Given the description of an element on the screen output the (x, y) to click on. 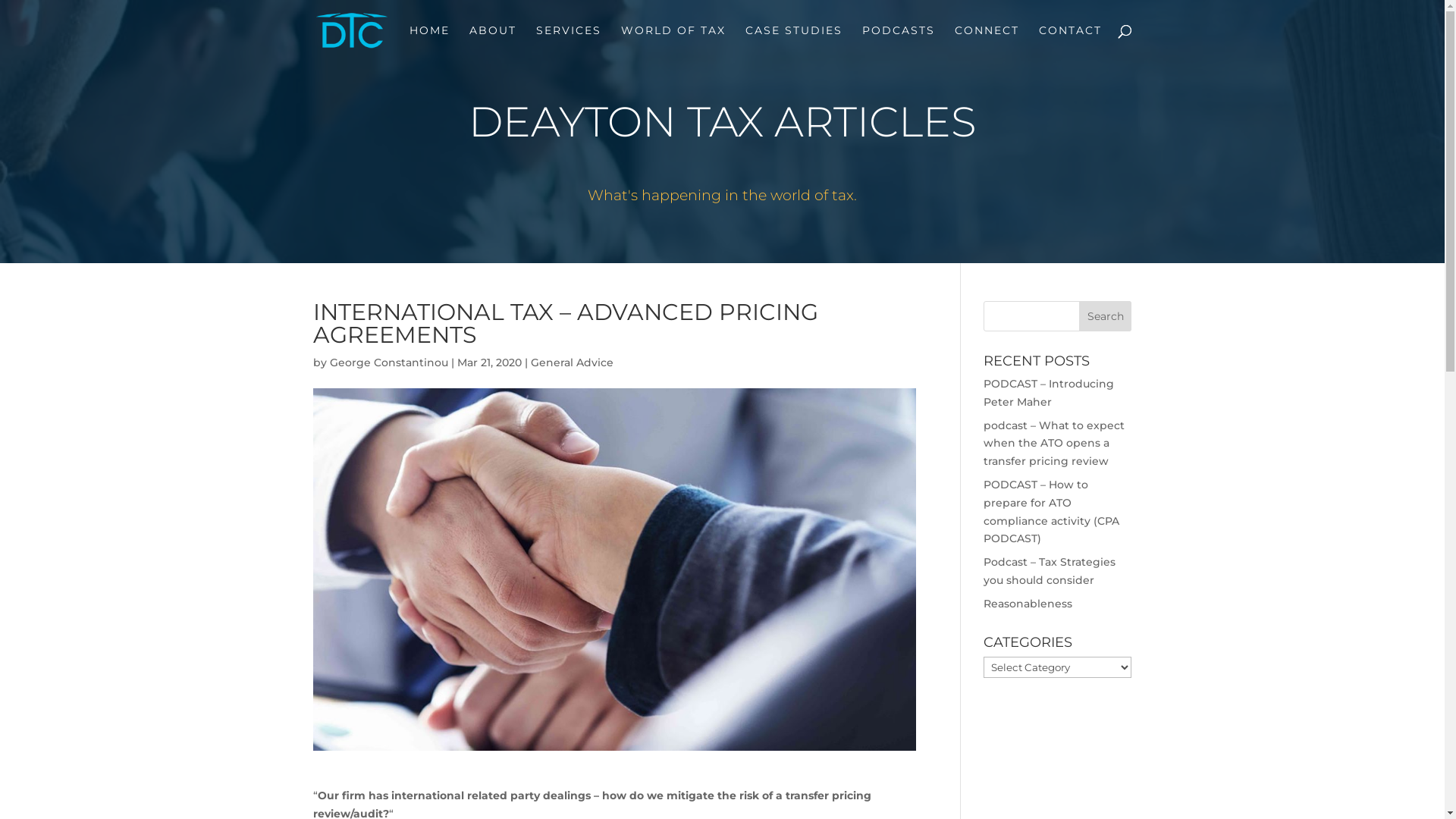
PODCASTS Element type: text (897, 42)
HOME Element type: text (429, 42)
WORLD OF TAX Element type: text (672, 42)
ABOUT Element type: text (491, 42)
CASE STUDIES Element type: text (792, 42)
SERVICES Element type: text (567, 42)
George Constantinou Element type: text (388, 362)
Search Element type: text (1105, 316)
CONNECT Element type: text (985, 42)
Reasonableness Element type: text (1027, 603)
General Advice Element type: text (571, 362)
CONTACT Element type: text (1069, 42)
